Given the description of an element on the screen output the (x, y) to click on. 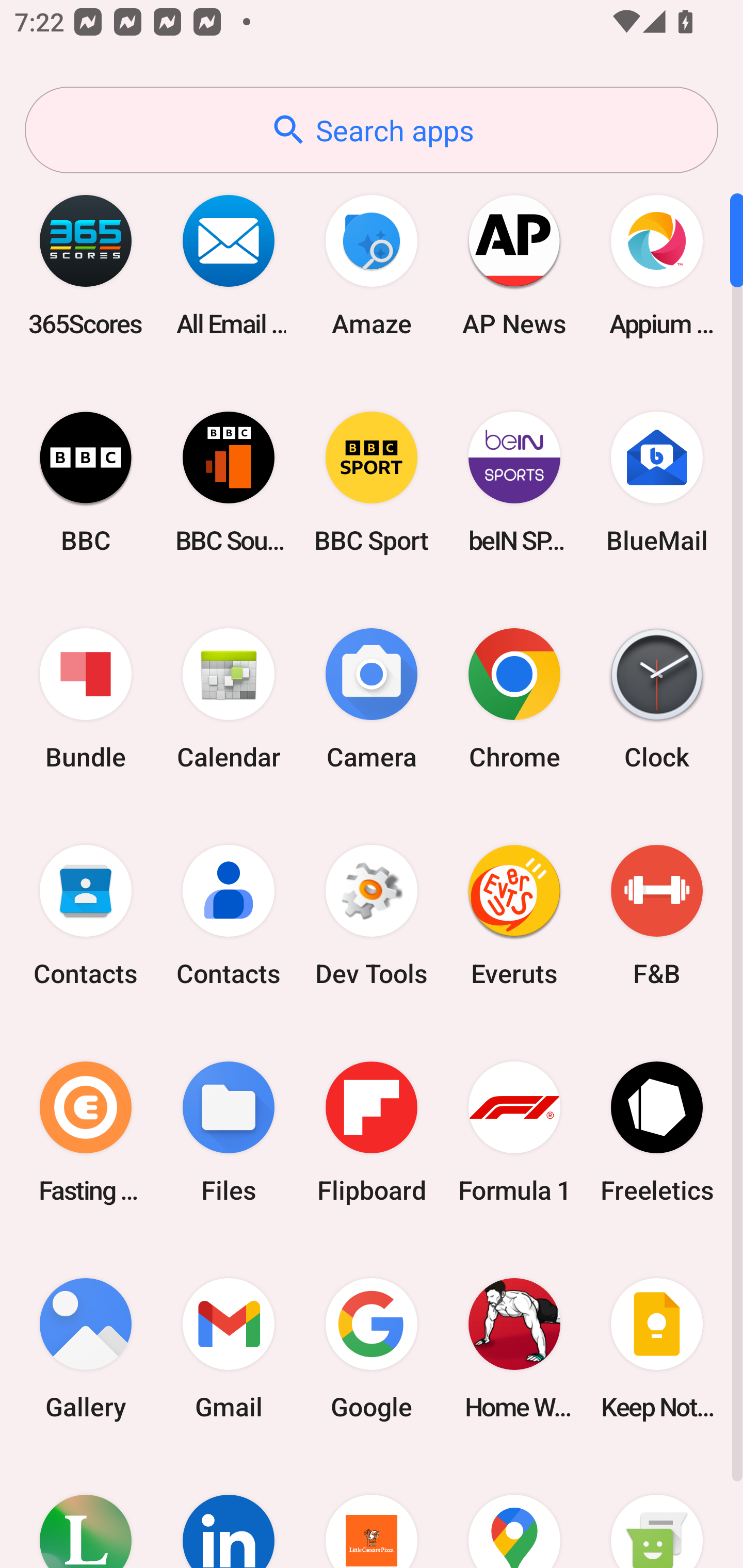
  Search apps (371, 130)
365Scores (85, 264)
All Email Connect (228, 264)
Amaze (371, 264)
AP News (514, 264)
Appium Settings (656, 264)
BBC (85, 482)
BBC Sounds (228, 482)
BBC Sport (371, 482)
beIN SPORTS (514, 482)
BlueMail (656, 482)
Bundle (85, 699)
Calendar (228, 699)
Camera (371, 699)
Chrome (514, 699)
Clock (656, 699)
Contacts (85, 915)
Contacts (228, 915)
Dev Tools (371, 915)
Everuts (514, 915)
F&B (656, 915)
Fasting Coach (85, 1131)
Files (228, 1131)
Flipboard (371, 1131)
Formula 1 (514, 1131)
Freeletics (656, 1131)
Gallery (85, 1348)
Gmail (228, 1348)
Google (371, 1348)
Home Workout (514, 1348)
Keep Notes (656, 1348)
Lifesum (85, 1512)
LinkedIn (228, 1512)
Little Caesars Pizza (371, 1512)
Maps (514, 1512)
Messaging (656, 1512)
